Given the description of an element on the screen output the (x, y) to click on. 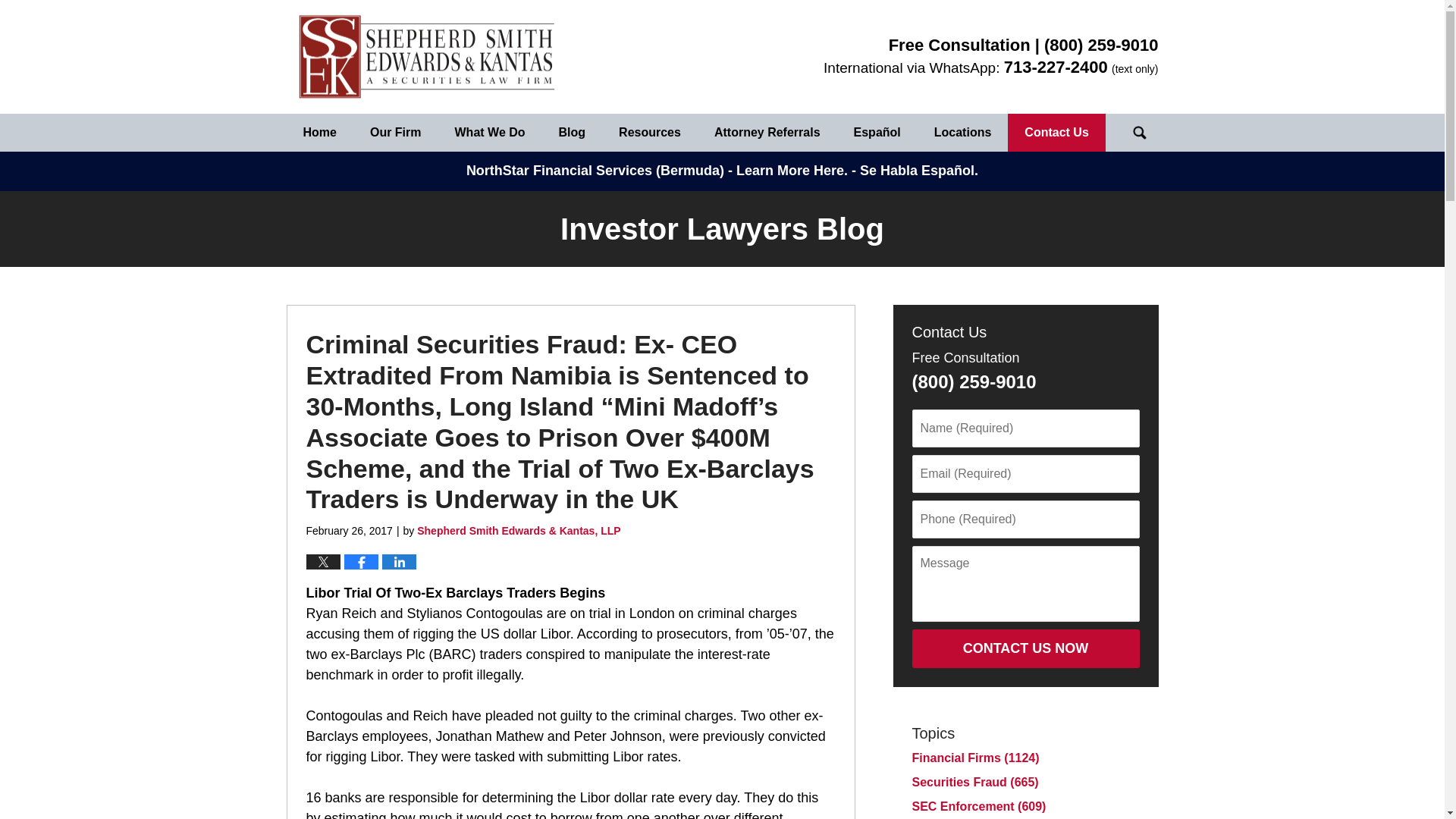
Blog (571, 132)
713-227-2400 (1056, 67)
Resources (649, 132)
Locations (963, 132)
Attorney Referrals (767, 132)
Home (319, 132)
Please enter a valid phone number. (1024, 519)
What We Do (489, 132)
Investor Lawyers Blog (426, 57)
Our Firm (395, 132)
